Given the description of an element on the screen output the (x, y) to click on. 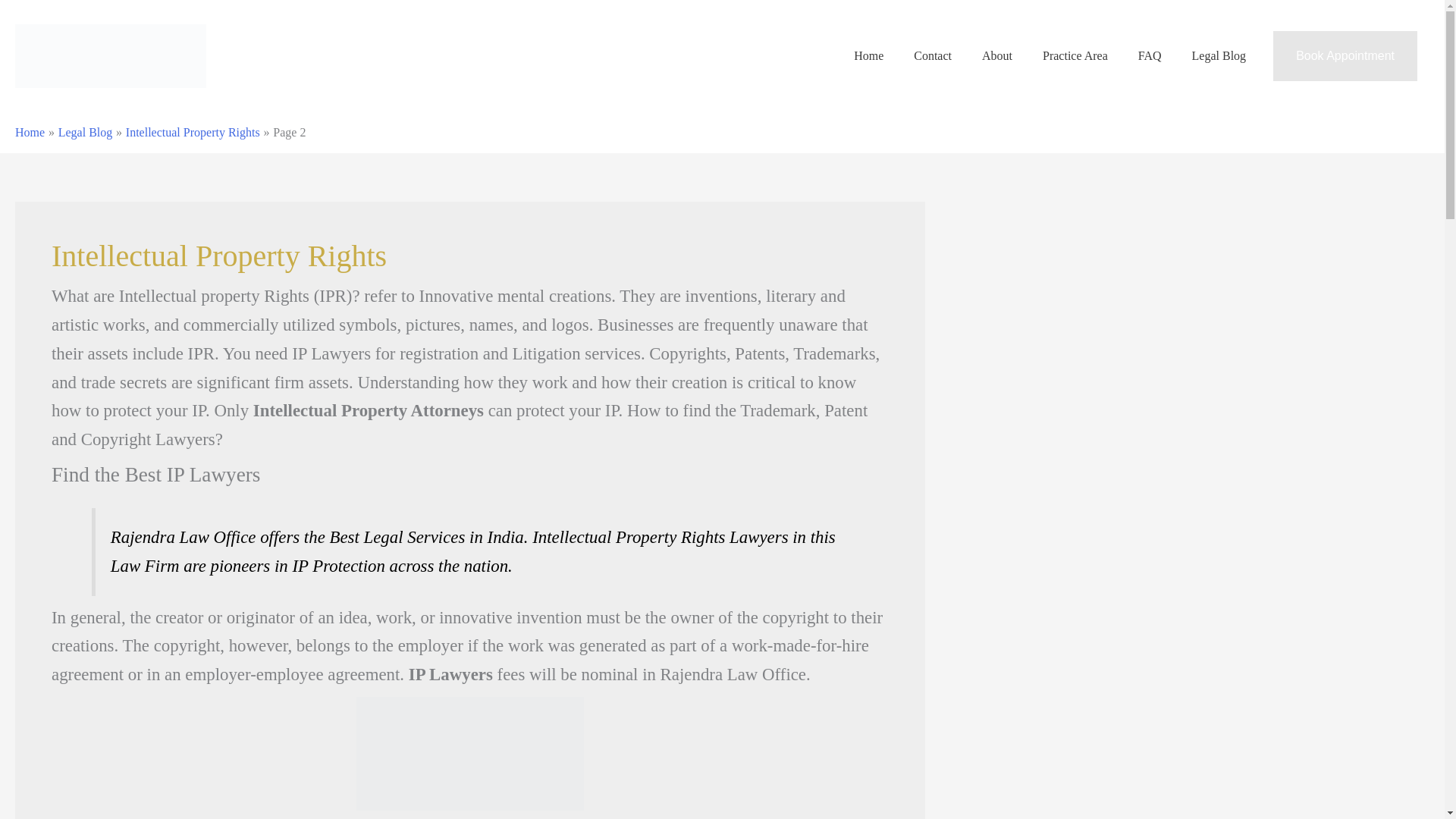
Practice Area (77, 186)
Facebook (41, 492)
Home (60, 145)
About (60, 173)
LinkedIn (41, 561)
Intellectual Property Rights (177, 300)
Follow by Email (41, 458)
Contact (64, 159)
Legal Blog (70, 300)
Legal Blog (72, 214)
